Given the description of an element on the screen output the (x, y) to click on. 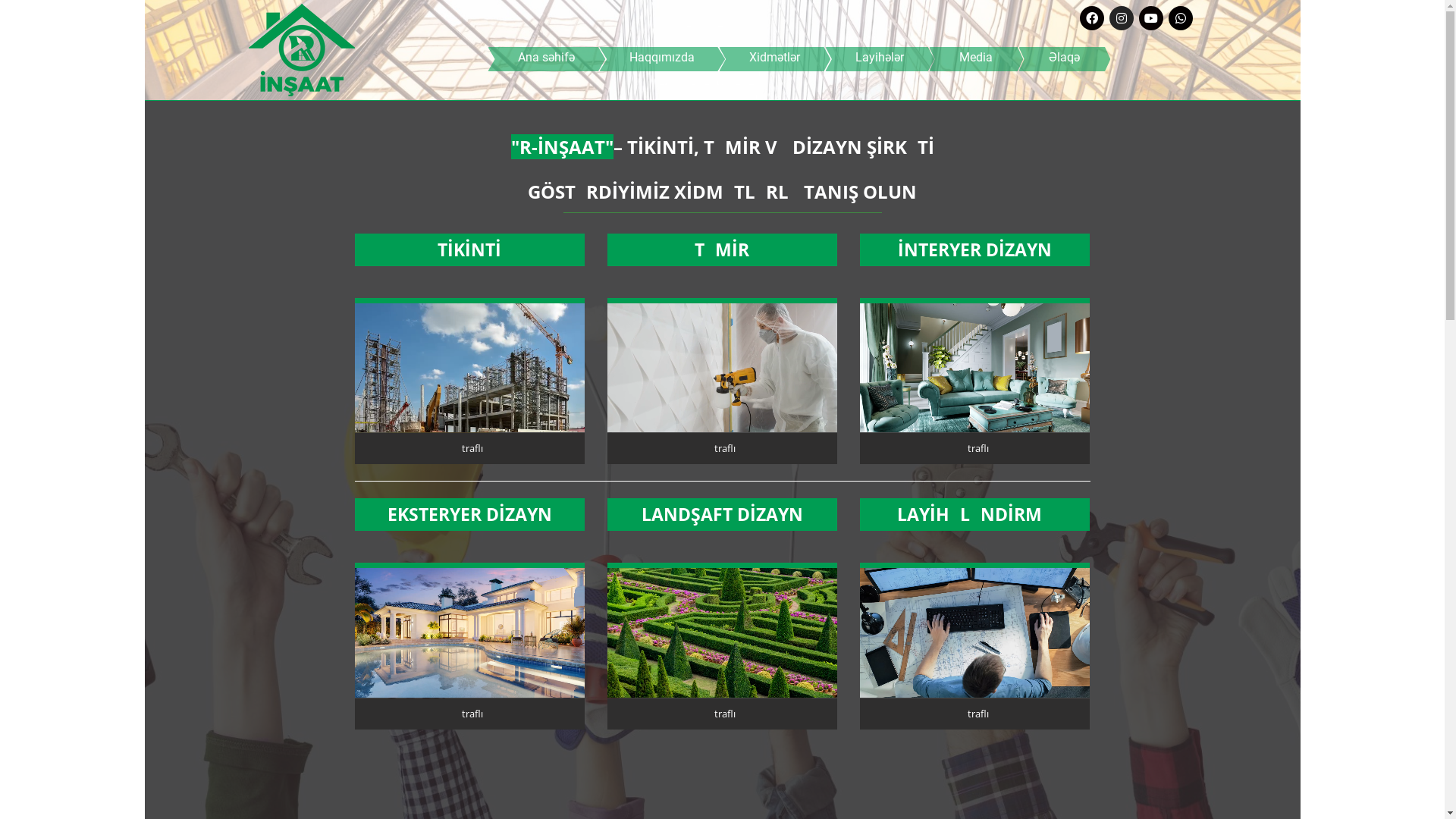
Media Element type: text (975, 59)
